Given the description of an element on the screen output the (x, y) to click on. 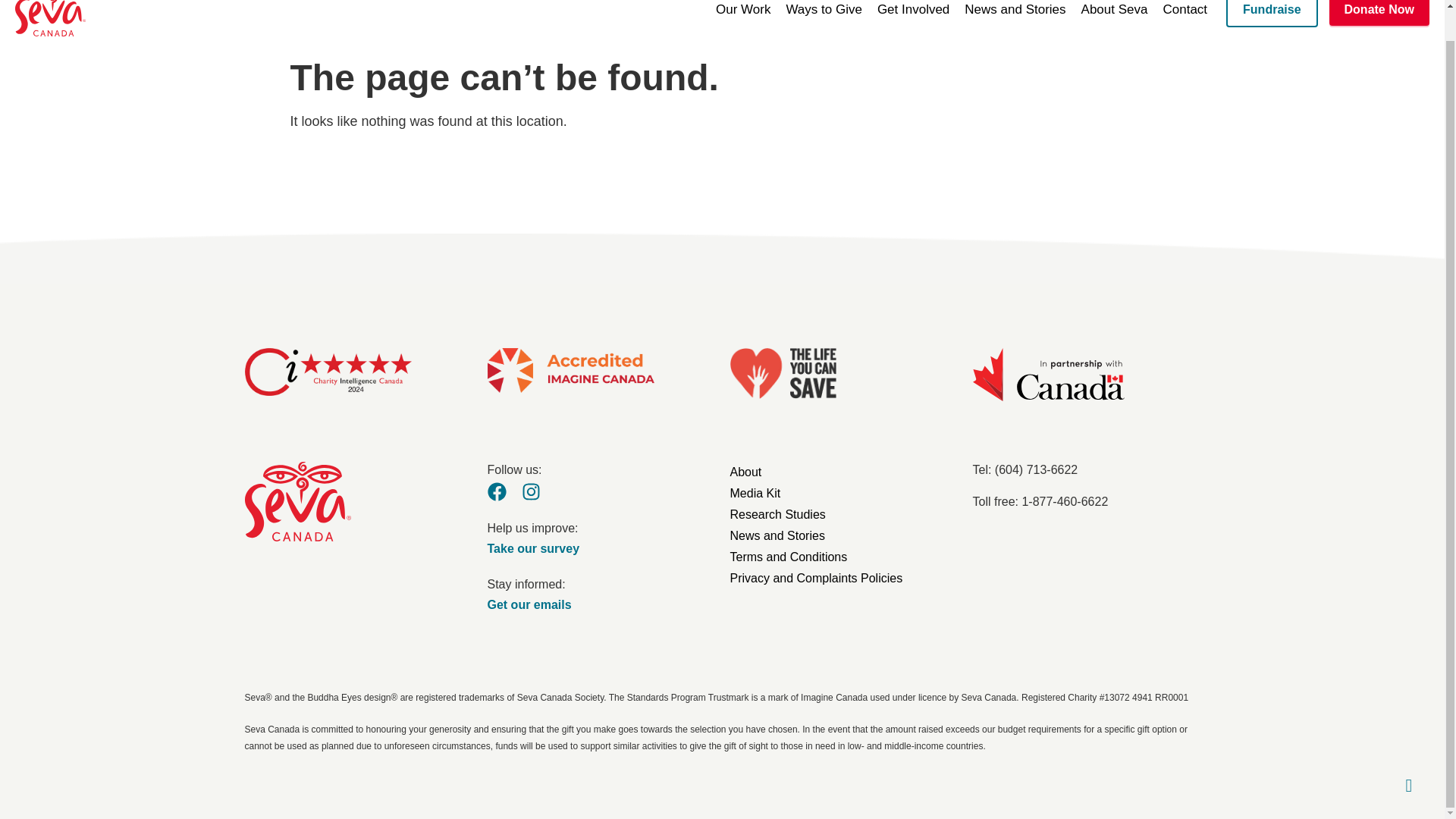
Ways to Give (823, 14)
Contact (1184, 14)
News and Stories (1014, 14)
About Seva (1115, 14)
Get Involved (912, 14)
Our Work (742, 14)
